Given the description of an element on the screen output the (x, y) to click on. 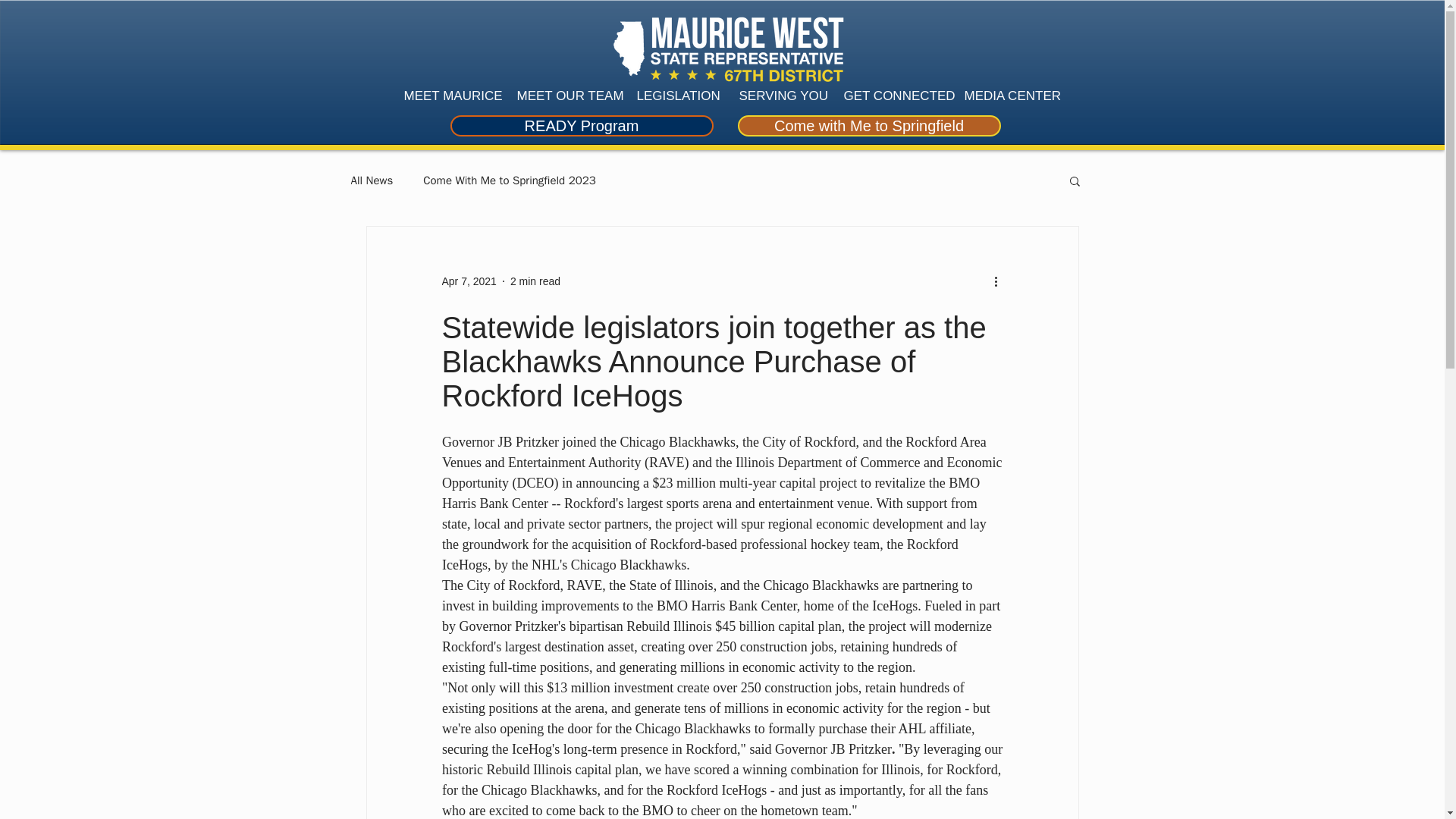
GET CONNECTED (892, 96)
MEDIA CENTER (1007, 96)
2 min read (535, 280)
Come With Me to Springfield 2023 (509, 179)
READY Program (581, 125)
Come with Me to Springfield (868, 125)
MEET OUR TEAM (564, 96)
SERVING YOU (780, 96)
All News (371, 179)
MEET MAURICE (449, 96)
LEGISLATION (675, 96)
Apr 7, 2021 (468, 280)
